Given the description of an element on the screen output the (x, y) to click on. 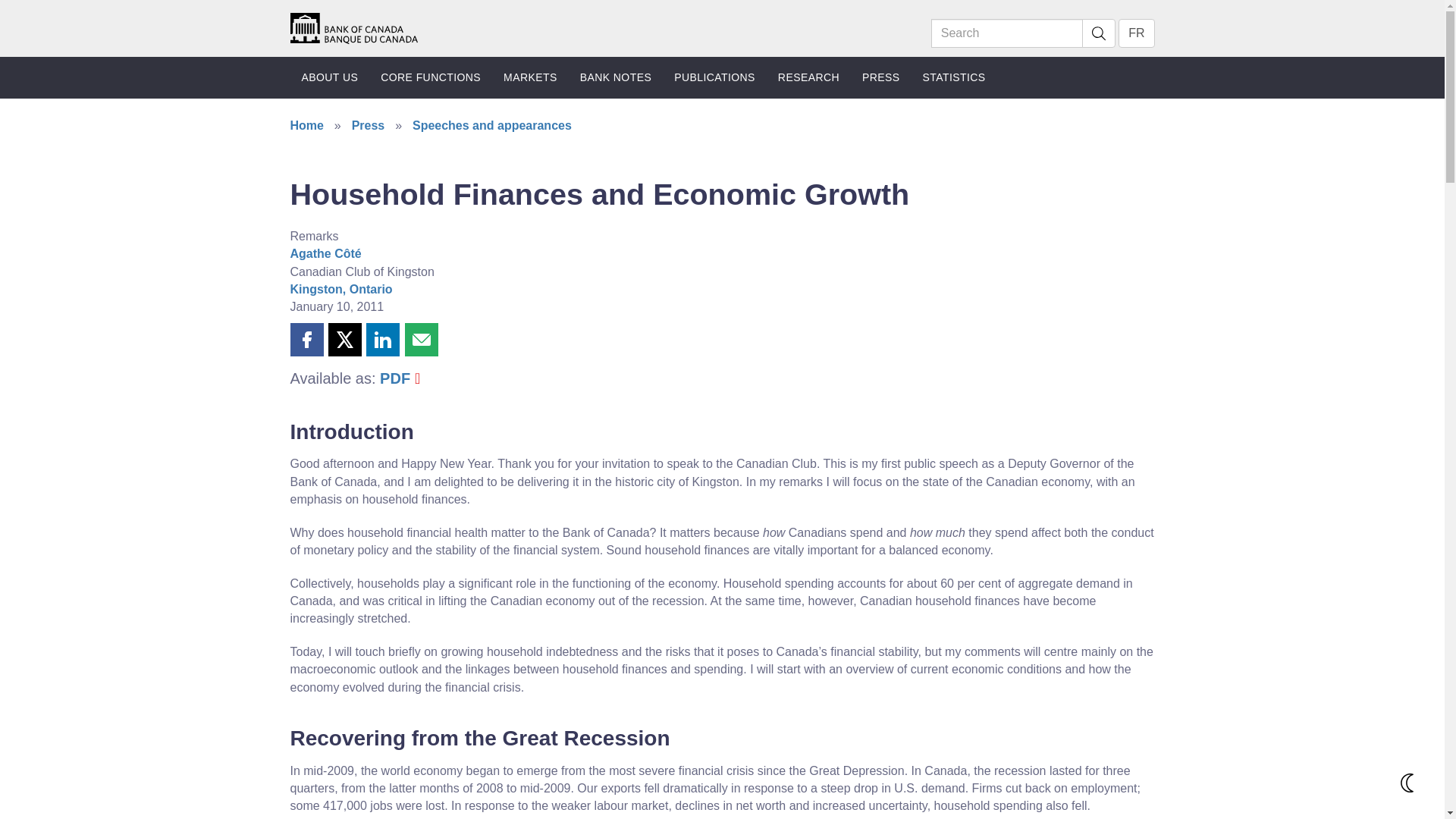
CORE FUNCTIONS (430, 77)
Share this page on Facebook (306, 339)
Home (352, 27)
ABOUT US (329, 77)
FR (1136, 32)
Share this page on LinkedIn (382, 339)
Share this page on X (345, 339)
MARKETS (530, 77)
Home (352, 27)
Search (1007, 32)
Search (1098, 32)
Share this page by email (421, 339)
Home (352, 28)
